Given the description of an element on the screen output the (x, y) to click on. 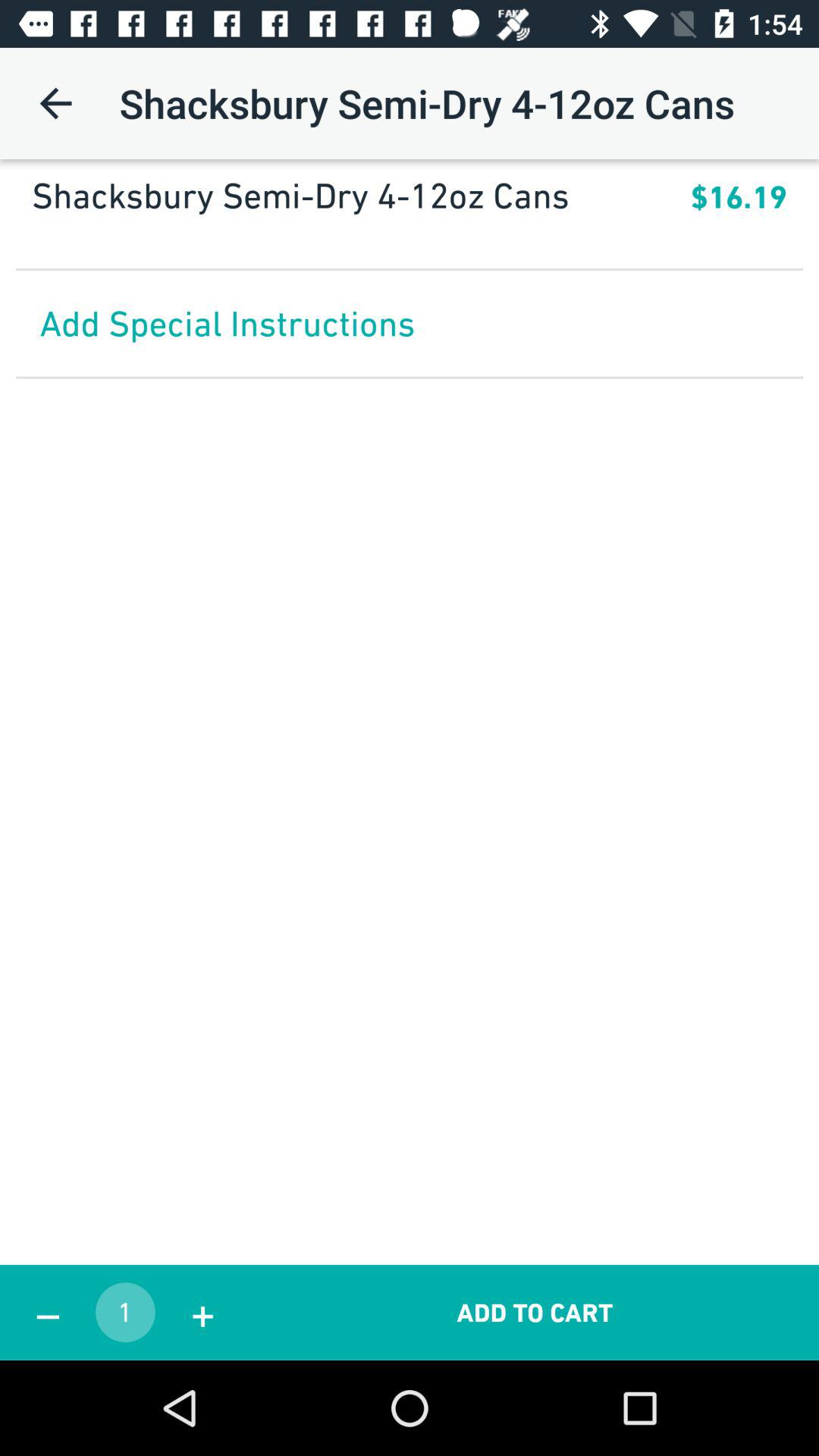
press + item (202, 1312)
